Given the description of an element on the screen output the (x, y) to click on. 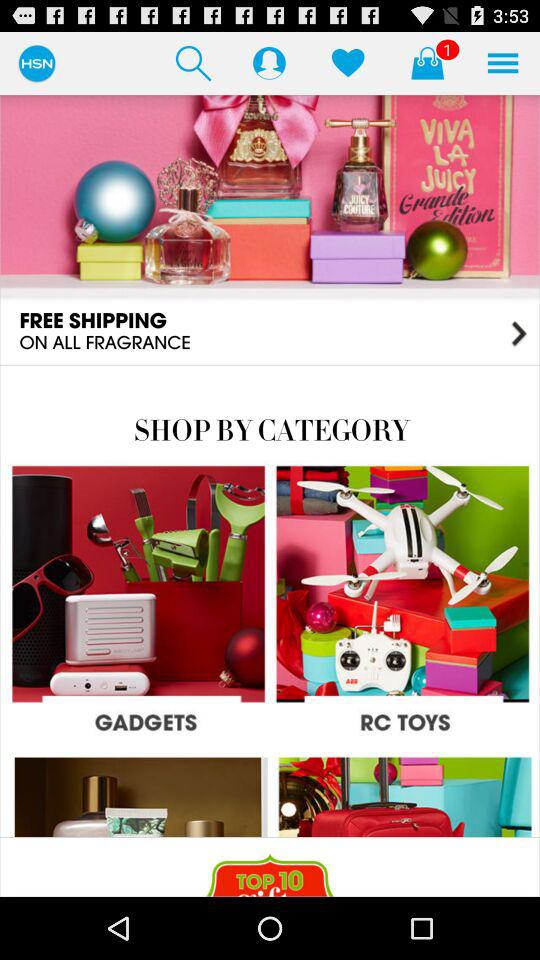
view shopping cart (427, 62)
